Given the description of an element on the screen output the (x, y) to click on. 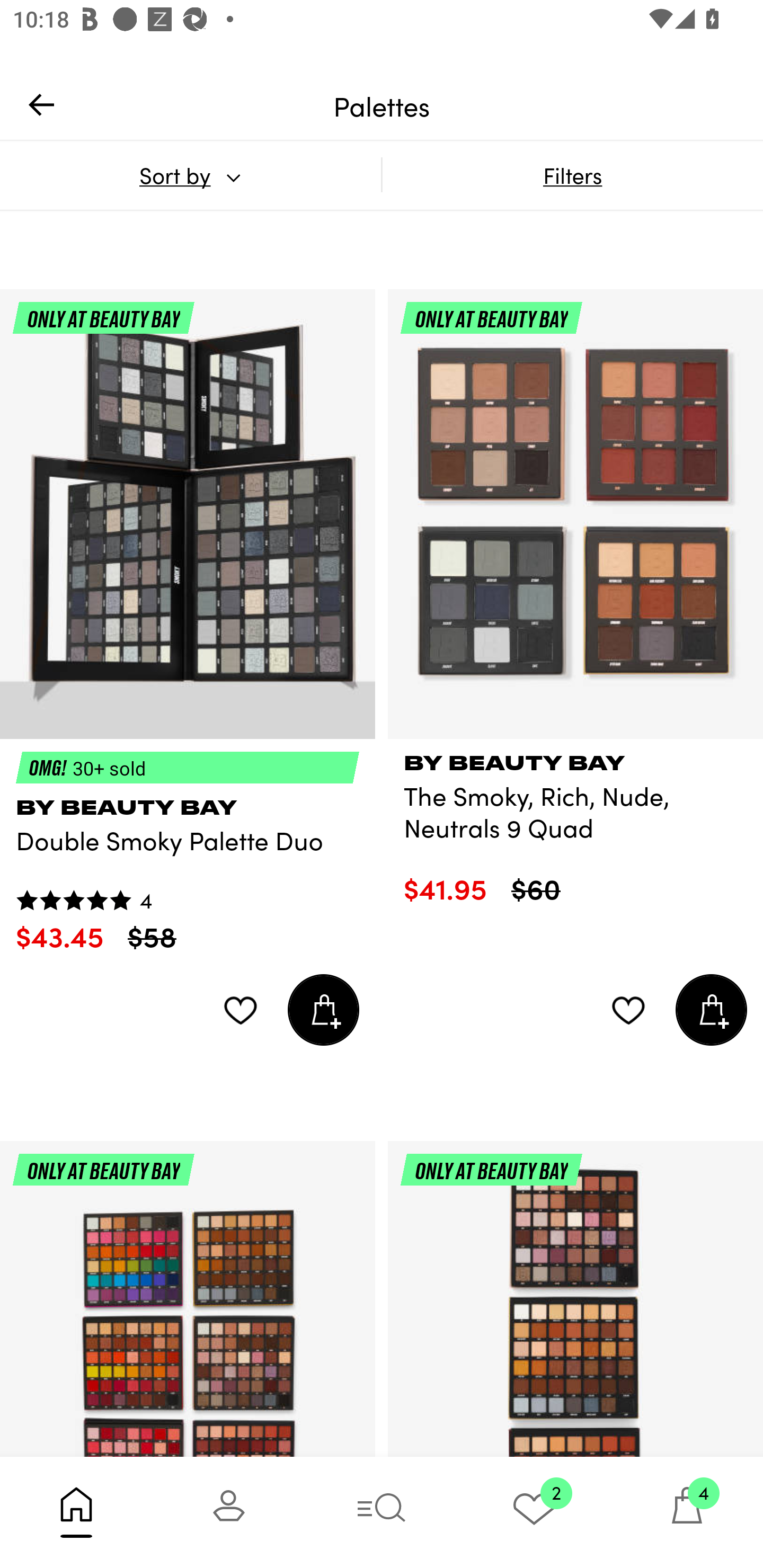
Sort by (190, 174)
Filters (572, 174)
2 (533, 1512)
4 (686, 1512)
